Given the description of an element on the screen output the (x, y) to click on. 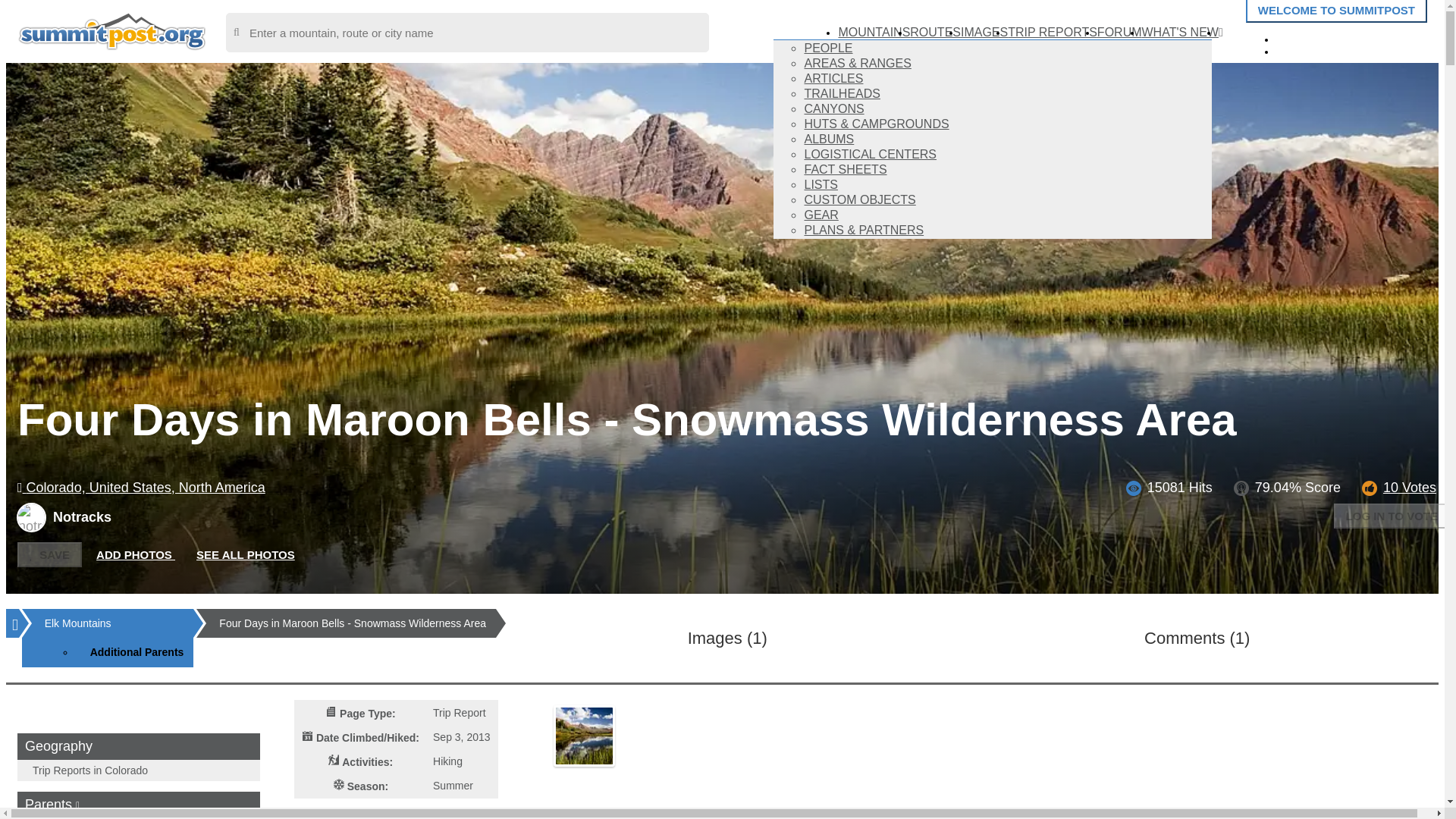
LOGISTICAL CENTERS (869, 154)
TRAILHEADS (841, 92)
Four Days in Maroon Bells - Snowmass Wilderness Area (352, 623)
  SAVE (49, 554)
Views (1133, 488)
LOG IN TO VOTE (1391, 515)
LISTS (820, 184)
CUSTOM OBJECTS (859, 199)
Score (1241, 488)
